Given the description of an element on the screen output the (x, y) to click on. 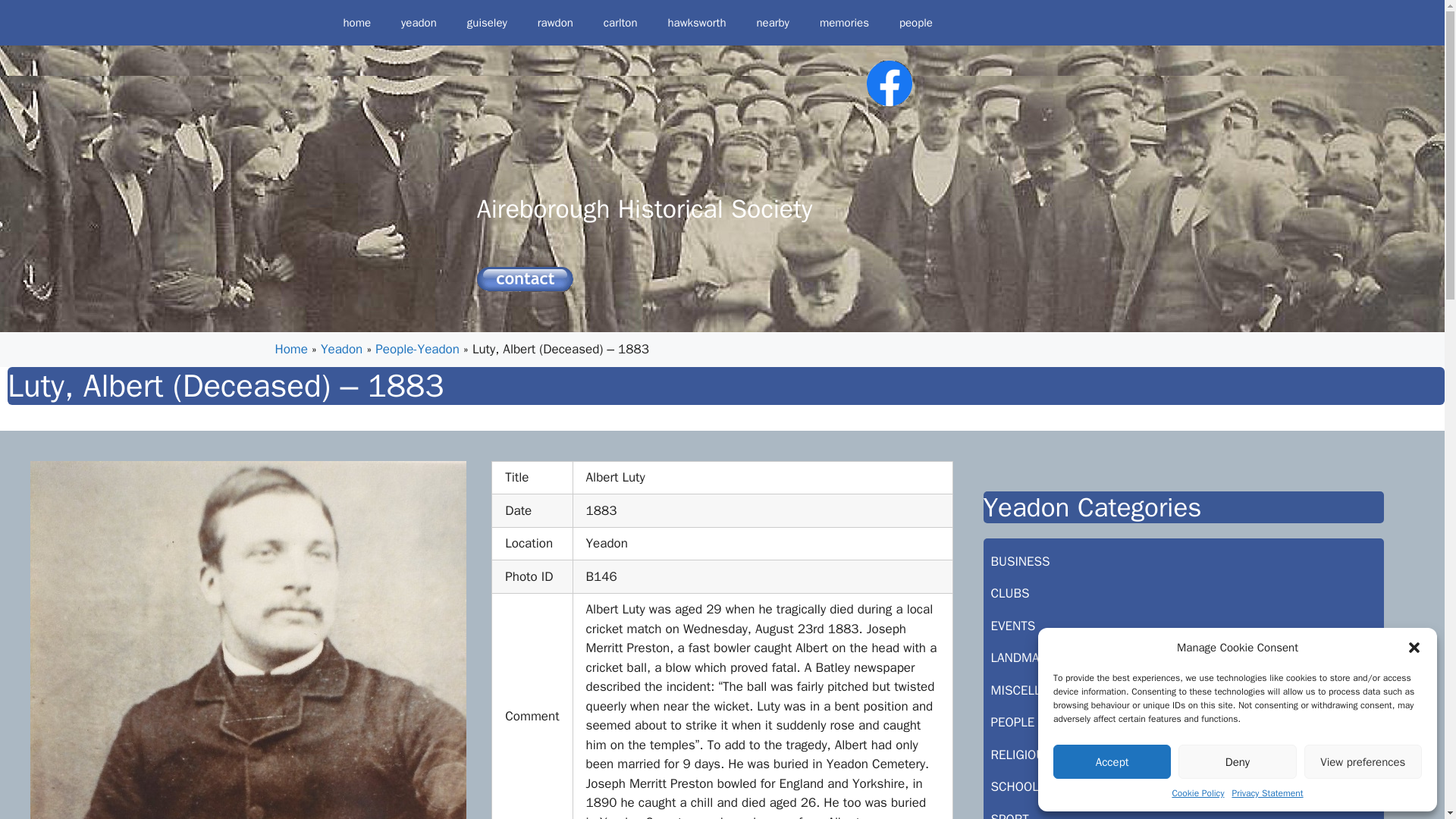
memories (844, 22)
yeadon (418, 22)
hawksworth (696, 22)
Cookie Policy (1198, 793)
Accept (1111, 761)
nearby (772, 22)
Yeadon (341, 349)
rawdon (555, 22)
Home (291, 349)
people (915, 22)
People-Yeadon (417, 349)
home (356, 22)
guiseley (486, 22)
carlton (620, 22)
Please join us on Facebook (889, 83)
